Given the description of an element on the screen output the (x, y) to click on. 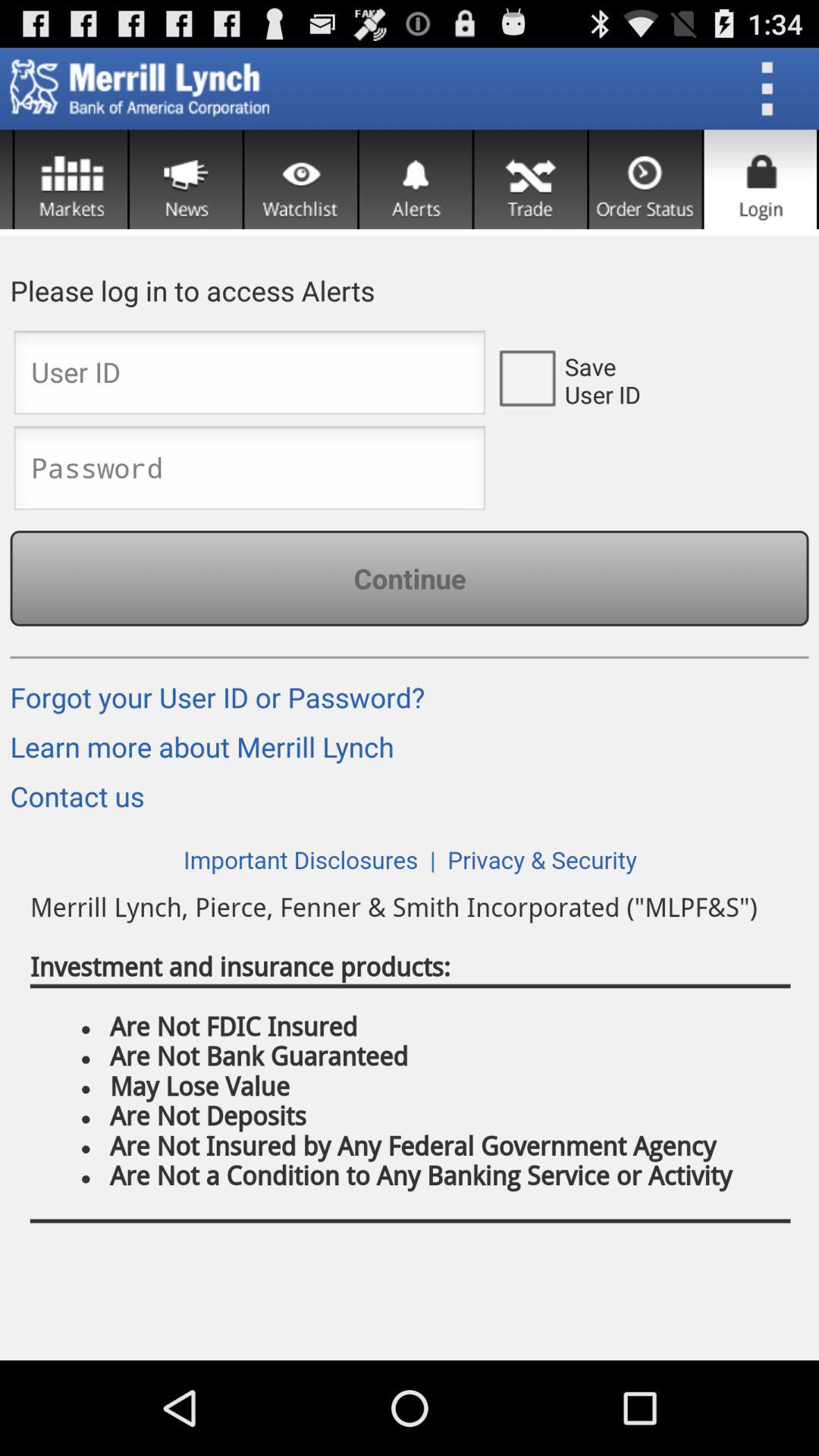
login page (760, 179)
